Given the description of an element on the screen output the (x, y) to click on. 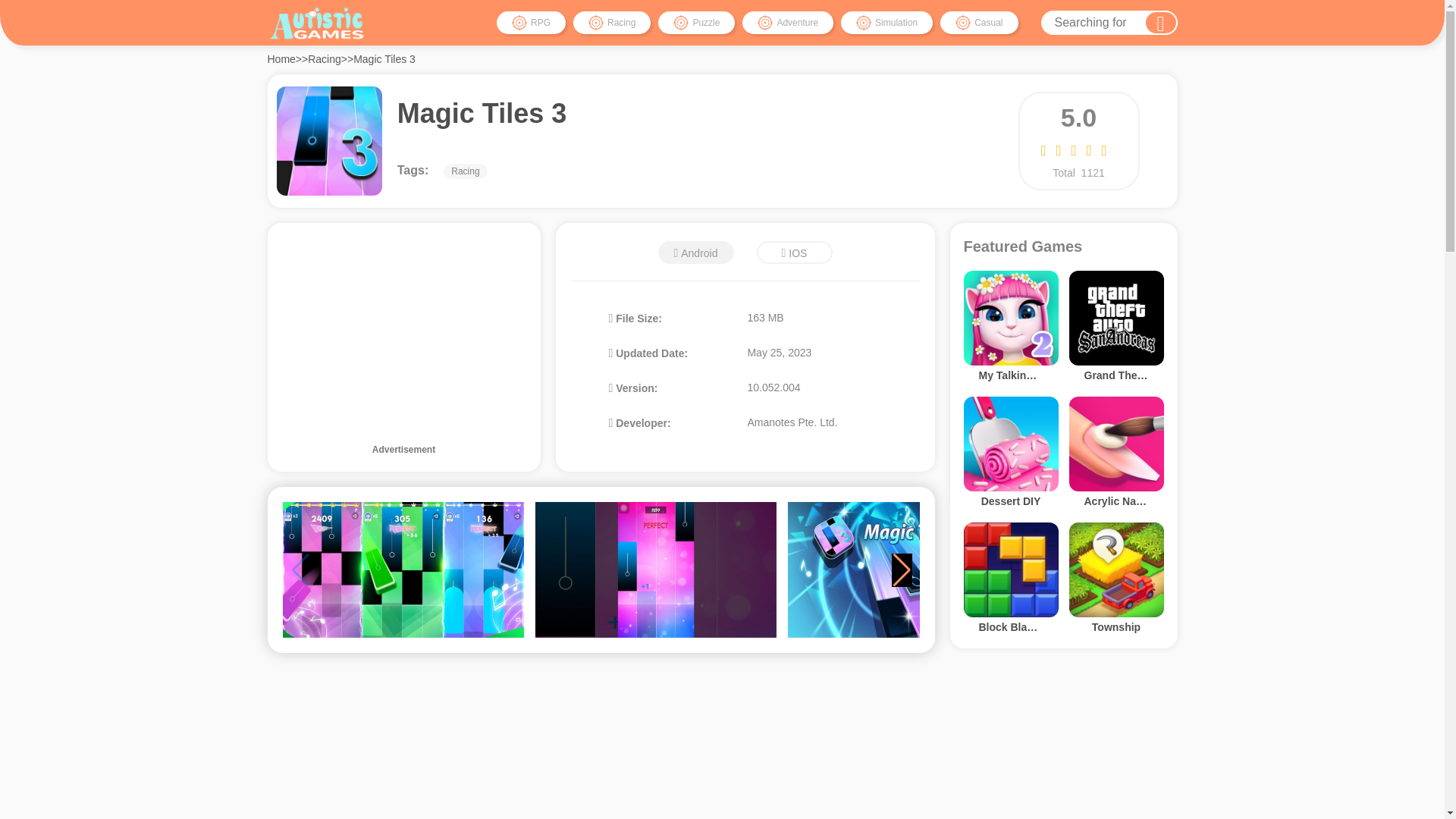
Racing (611, 22)
Simulation (887, 22)
RPG (531, 22)
Casual (978, 22)
Puzzle (696, 22)
Home (280, 59)
Adventure (787, 22)
Racing (323, 59)
